Given the description of an element on the screen output the (x, y) to click on. 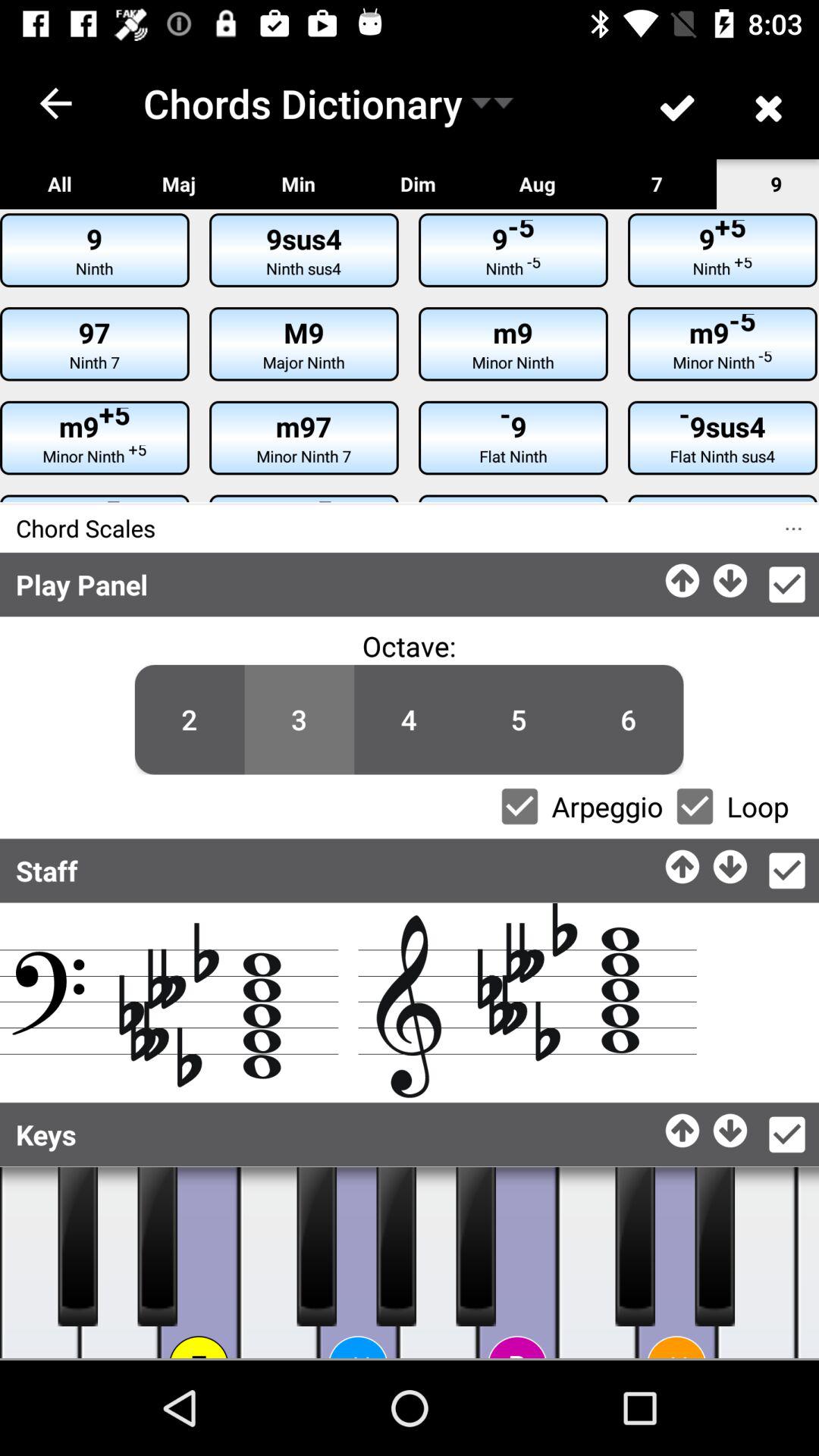
go to music (396, 1246)
